Given the description of an element on the screen output the (x, y) to click on. 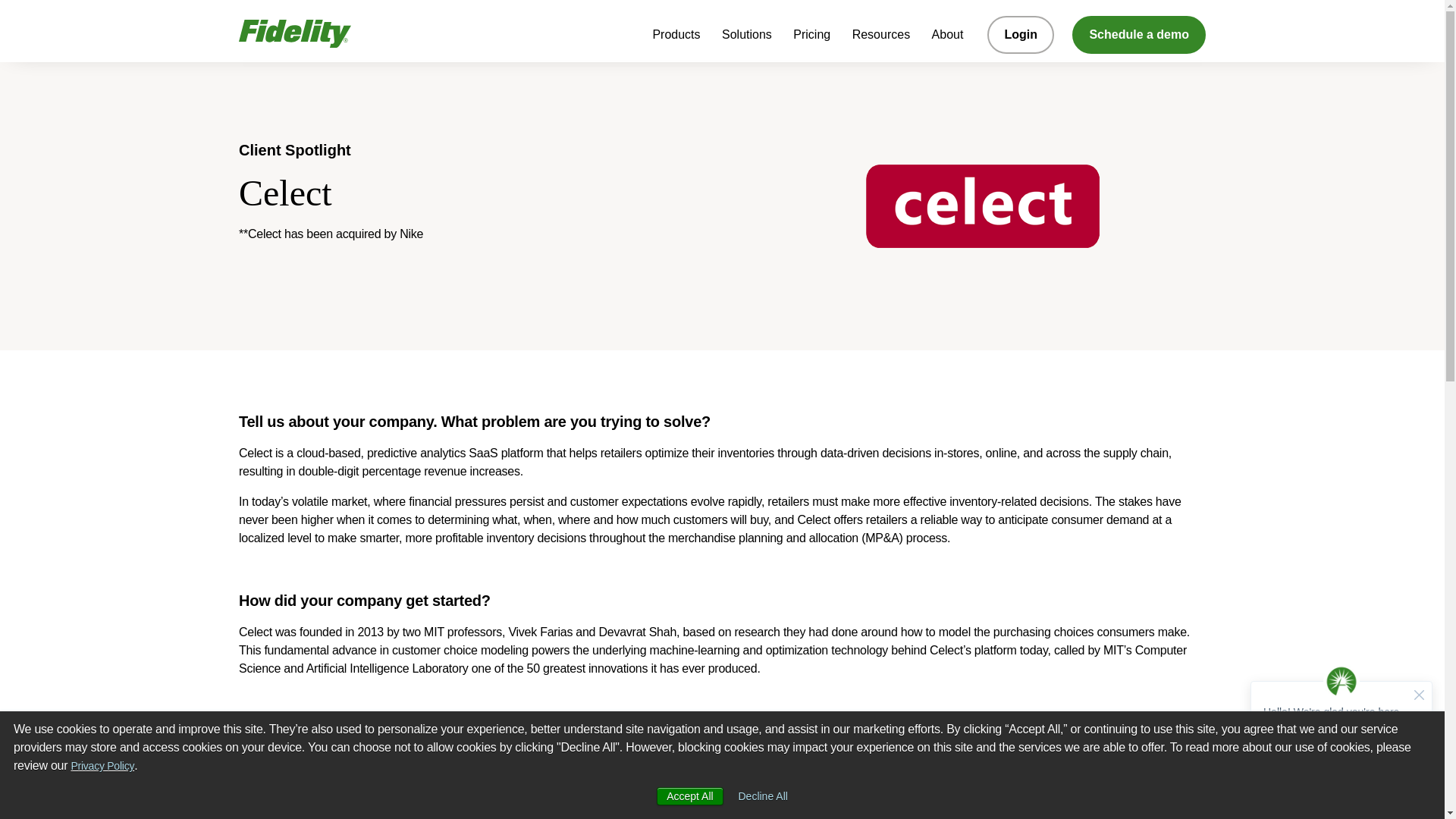
Resources (880, 39)
Login (1020, 34)
Products (676, 39)
Schedule a demo (1138, 34)
Solutions (746, 39)
award-winning technology (329, 762)
About (947, 39)
solution suite (358, 810)
Accept All (689, 796)
Privacy Policy (103, 766)
Decline All (762, 796)
fidelity-logo (294, 30)
Pricing (812, 39)
